Given the description of an element on the screen output the (x, y) to click on. 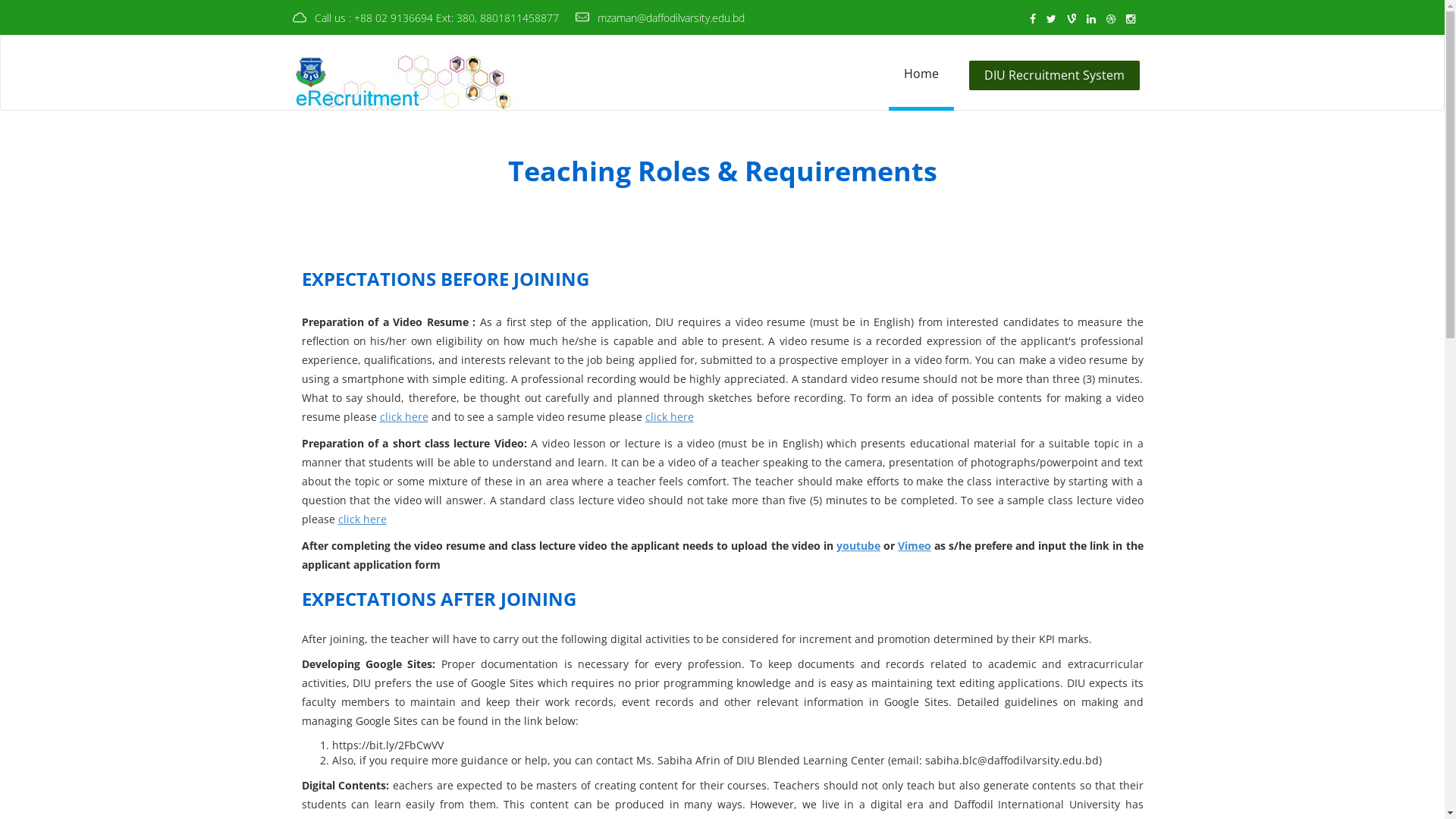
click here Element type: text (403, 416)
click here Element type: text (668, 416)
youtube Element type: text (858, 545)
Vimeo Element type: text (914, 545)
DIU Recruitment System Element type: text (1056, 75)
click here Element type: text (362, 518)
Home Element type: text (920, 73)
DIU Recruitment System Element type: text (1054, 75)
